Given the description of an element on the screen output the (x, y) to click on. 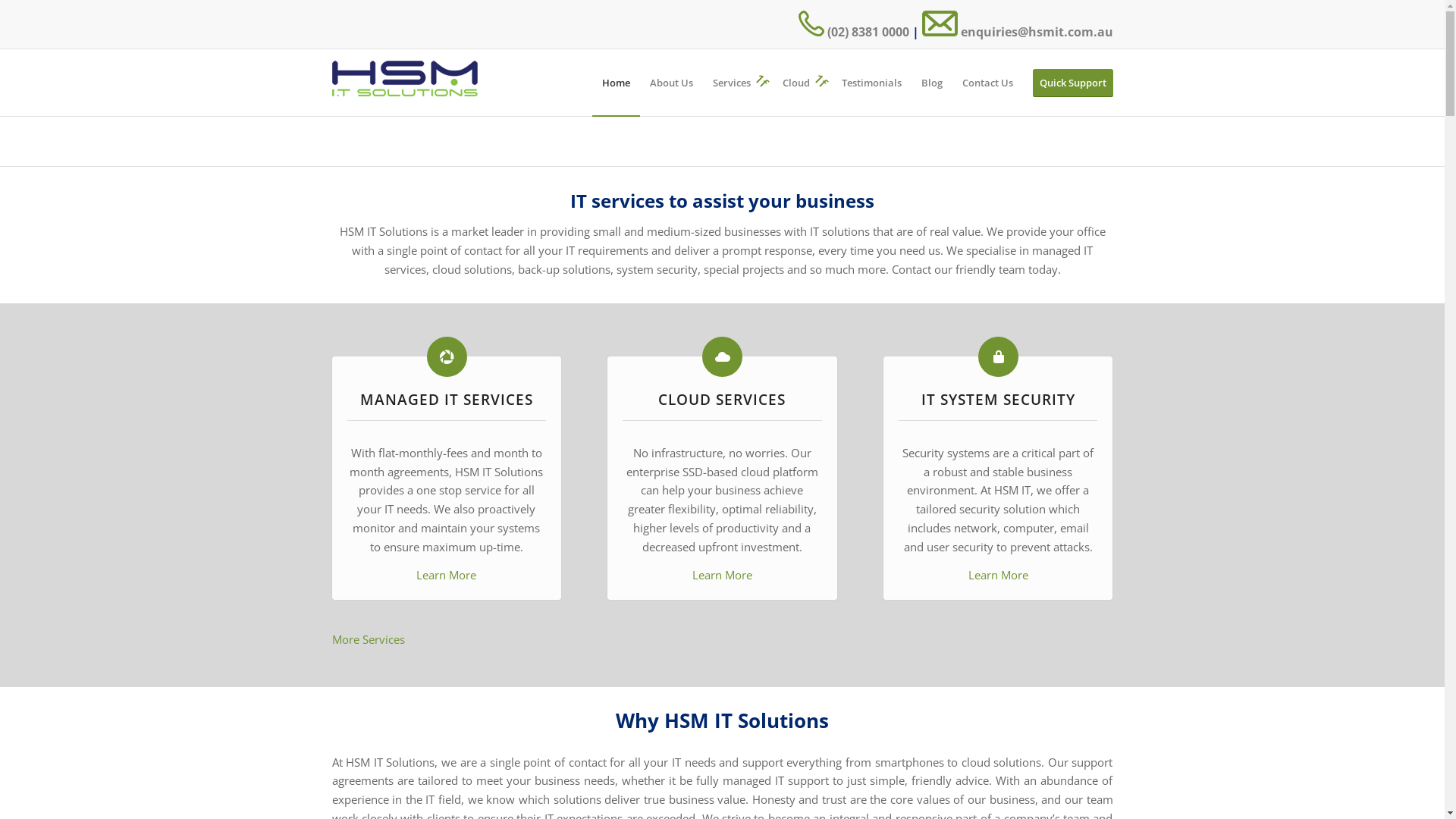
Testimonials Element type: text (870, 82)
Cloud services Element type: hover (722, 356)
More Services Element type: text (368, 638)
About Us Element type: text (671, 82)
(02) 8381 0000 Element type: text (852, 31)
Quick Support Element type: text (1067, 82)
Learn More Element type: text (998, 574)
IT system security Element type: hover (998, 356)
enquiries@hsmit.com.au Element type: text (1017, 31)
CLOUD SERVICES Element type: text (721, 398)
IT SYSTEM SECURITY Element type: text (998, 398)
Contact Us Element type: text (987, 82)
Managed IT services Element type: hover (446, 356)
Learn More Element type: text (446, 574)
Services Element type: text (737, 82)
Home Element type: text (616, 82)
Cloud Element type: text (801, 82)
Blog Element type: text (931, 82)
MANAGED IT SERVICES Element type: text (446, 398)
Learn More Element type: text (722, 574)
